Given the description of an element on the screen output the (x, y) to click on. 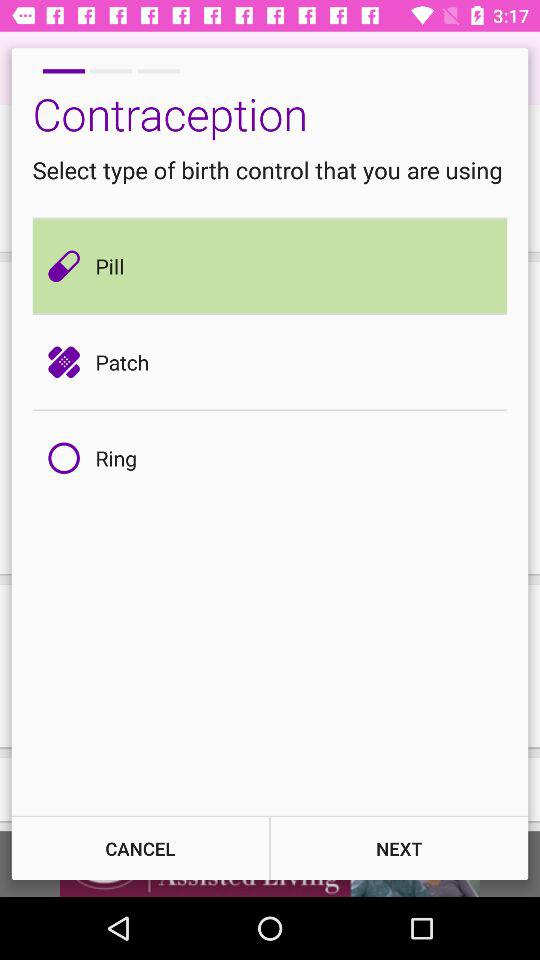
flip until the next item (399, 848)
